Given the description of an element on the screen output the (x, y) to click on. 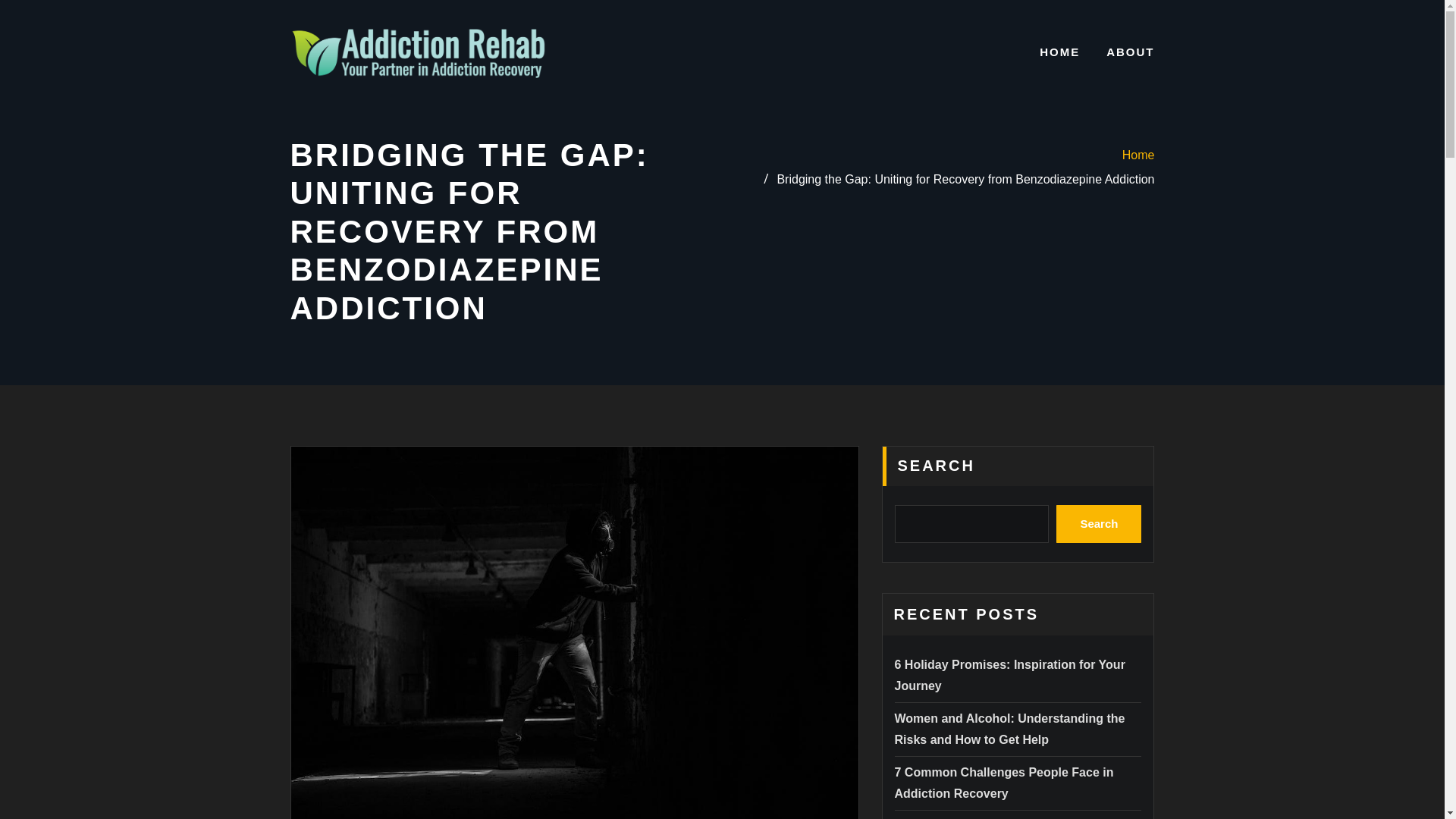
Home (1138, 154)
ABOUT (1130, 52)
7 Common Challenges People Face in Addiction Recovery (1004, 782)
6 Holiday Promises: Inspiration for Your Journey (1010, 675)
HOME (1059, 52)
Search (1099, 523)
